Given the description of an element on the screen output the (x, y) to click on. 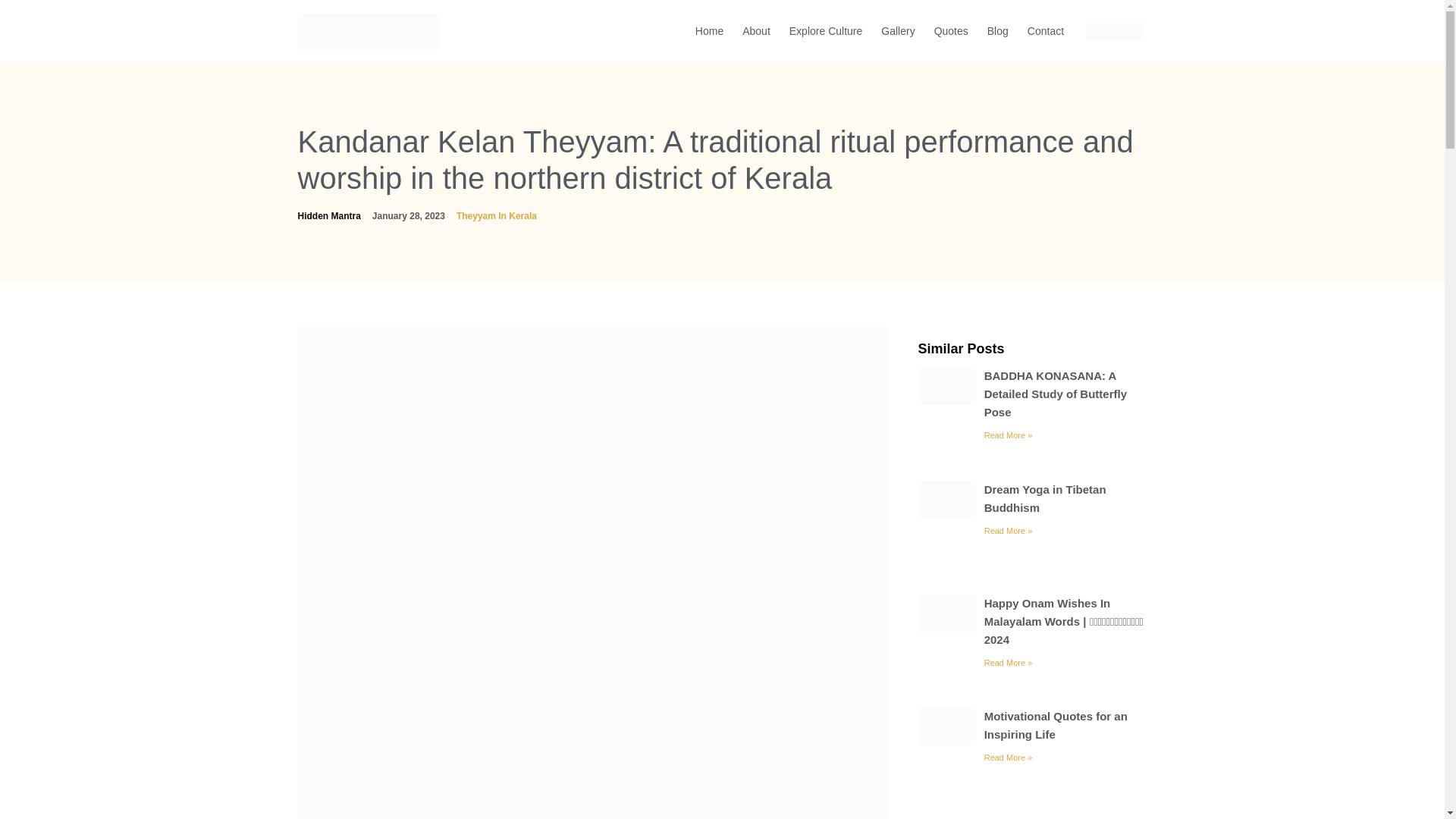
Quotes (951, 30)
Home (708, 30)
Contact (1045, 30)
Explore Culture (826, 30)
Theyyam In Kerala (497, 215)
About (756, 30)
Gallery (897, 30)
Hidden Mantra (328, 215)
